Given the description of an element on the screen output the (x, y) to click on. 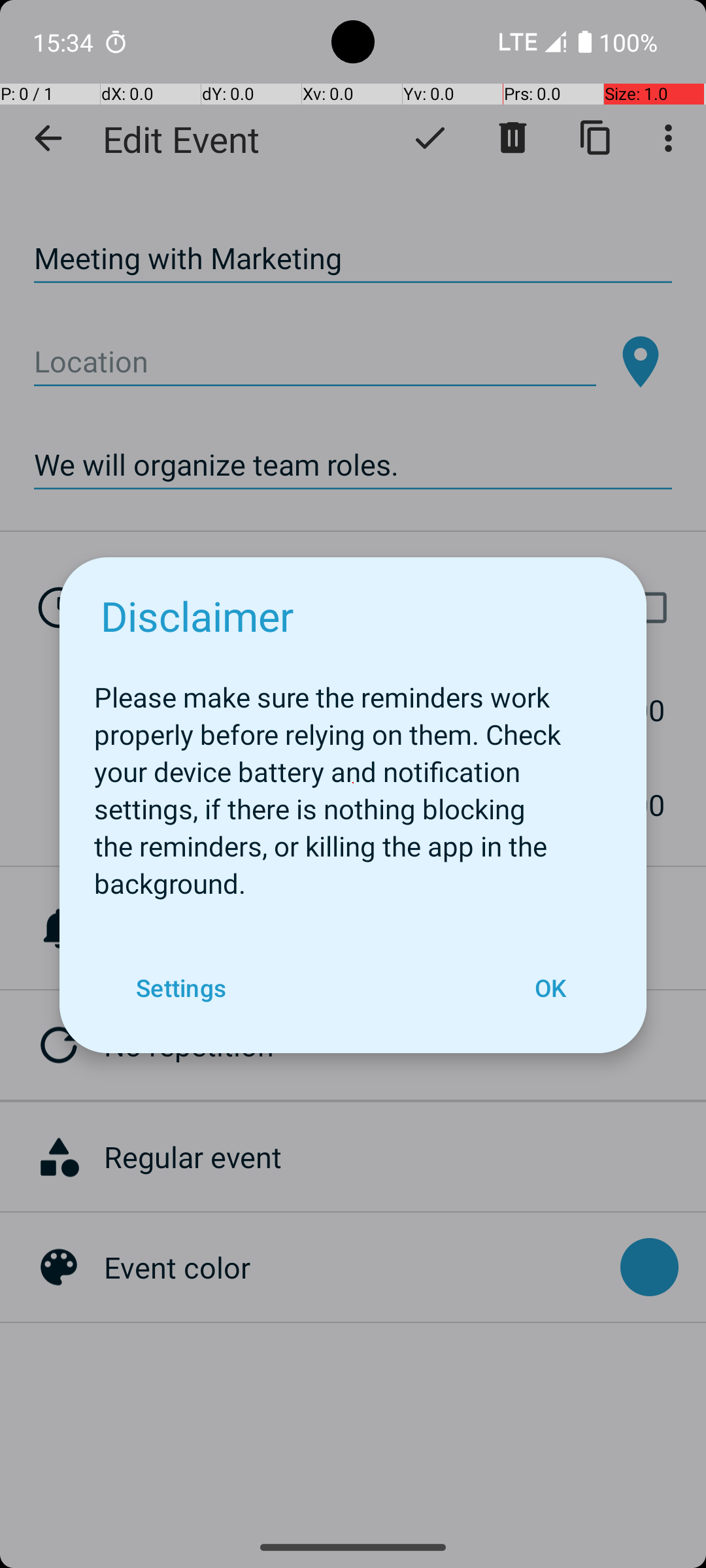
Disclaimer Element type: android.widget.TextView (196, 615)
Please make sure the reminders work properly before relying on them. Check your device battery and notification settings, if there is nothing blocking the reminders, or killing the app in the background. Element type: android.widget.TextView (352, 782)
